Given the description of an element on the screen output the (x, y) to click on. 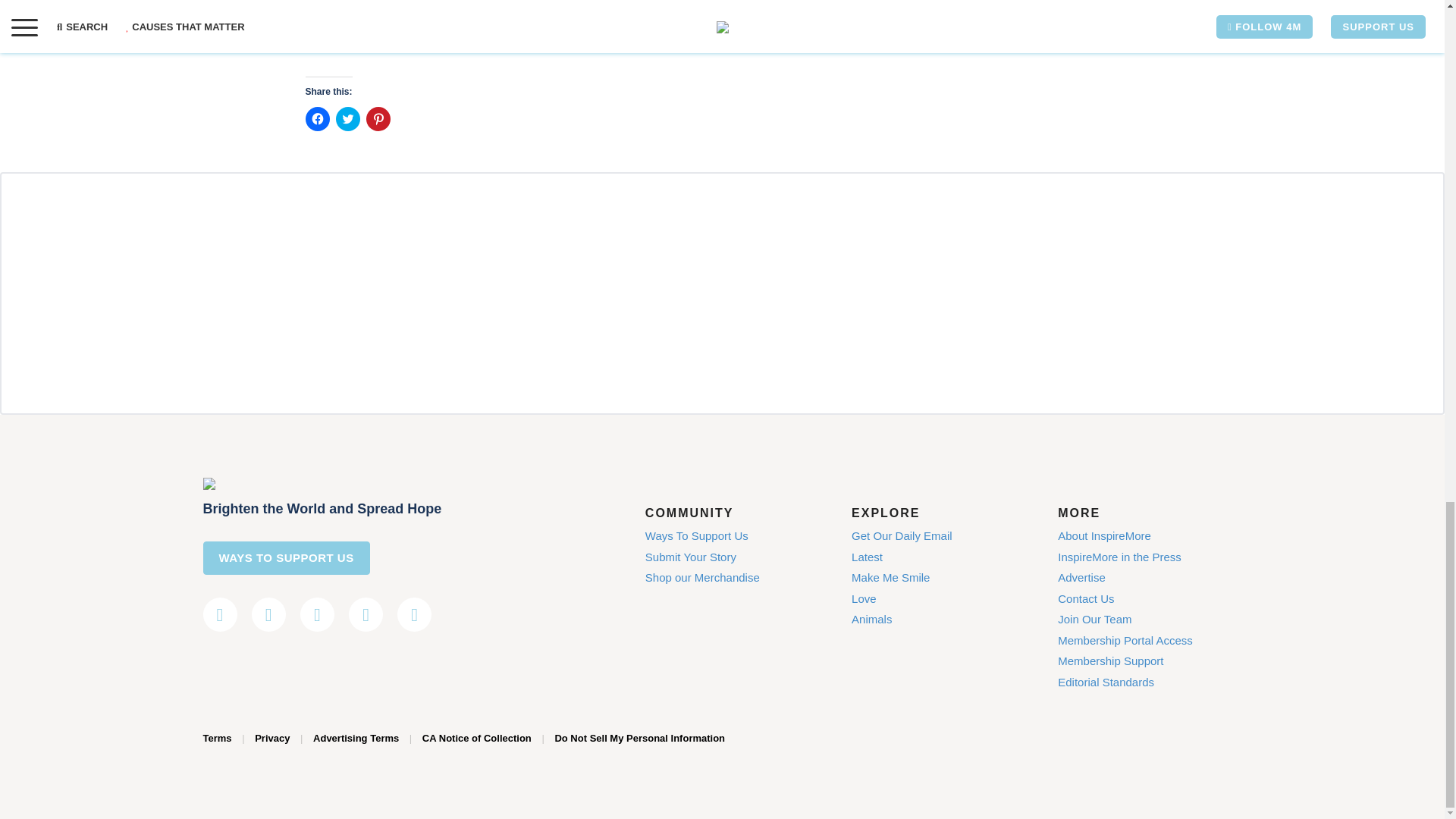
NeverStopExploring (548, 2)
Click to share on Facebook (316, 119)
toddlersoftiktok (419, 2)
WAYS TO SUPPORT US (286, 558)
Click to share on Pinterest (377, 119)
Click to share on Twitter (346, 119)
